Given the description of an element on the screen output the (x, y) to click on. 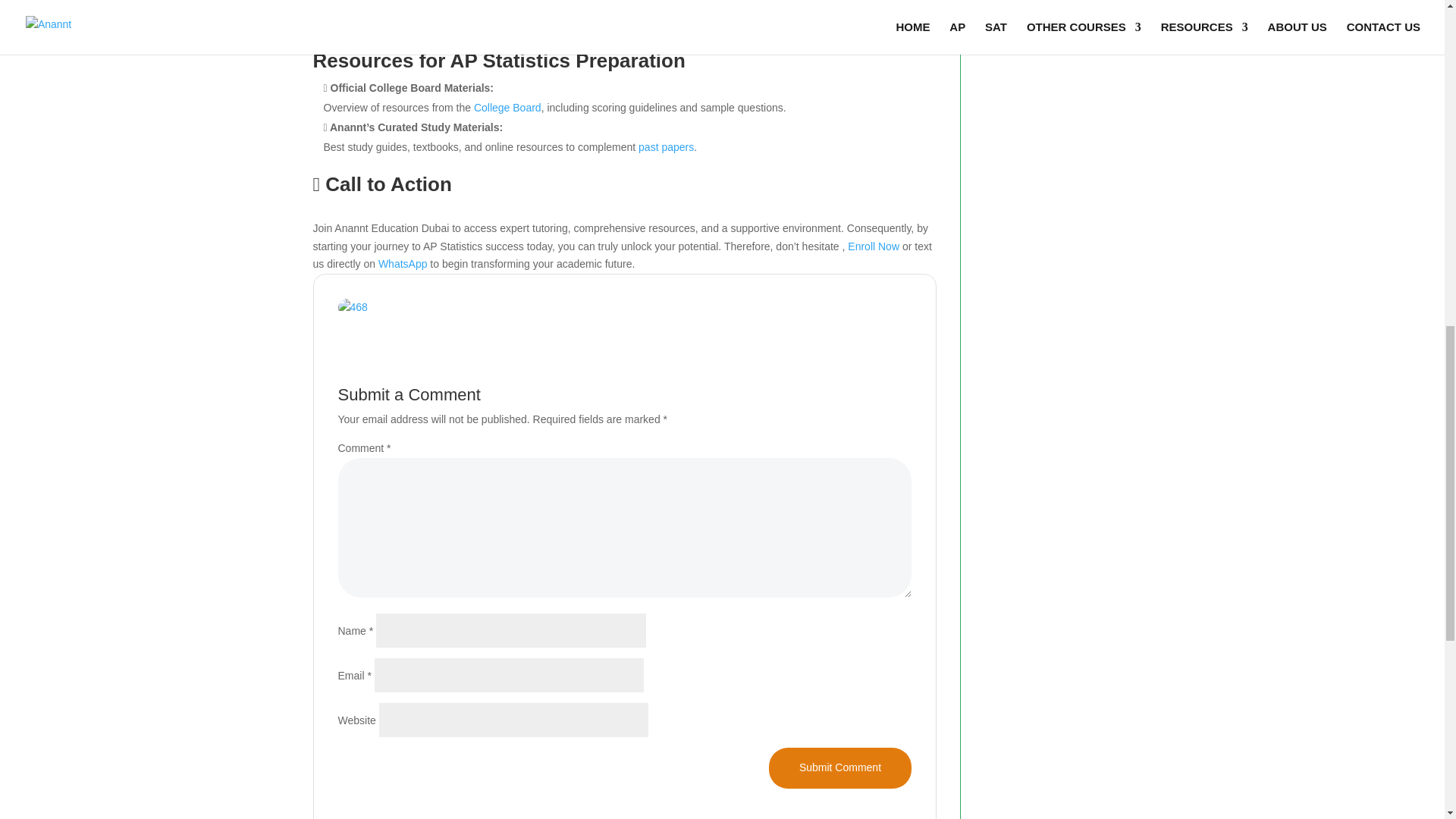
Enroll Now (874, 246)
Submit Comment (839, 767)
WhatsApp (403, 263)
past papers (666, 146)
College Board (507, 107)
Submit Comment (839, 767)
